Given the description of an element on the screen output the (x, y) to click on. 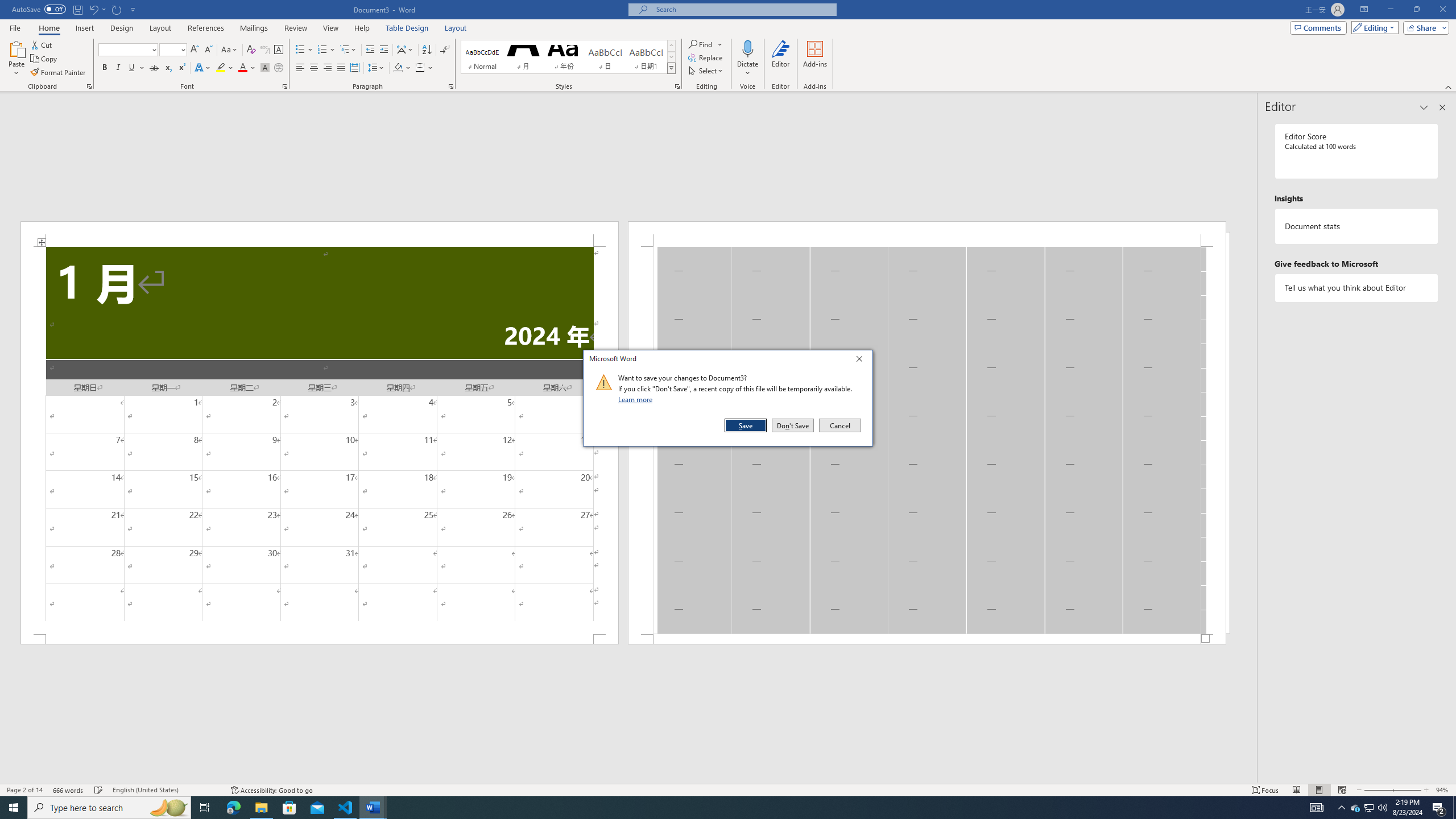
Font Color RGB(255, 0, 0) (241, 67)
Running applications (717, 807)
